Given the description of an element on the screen output the (x, y) to click on. 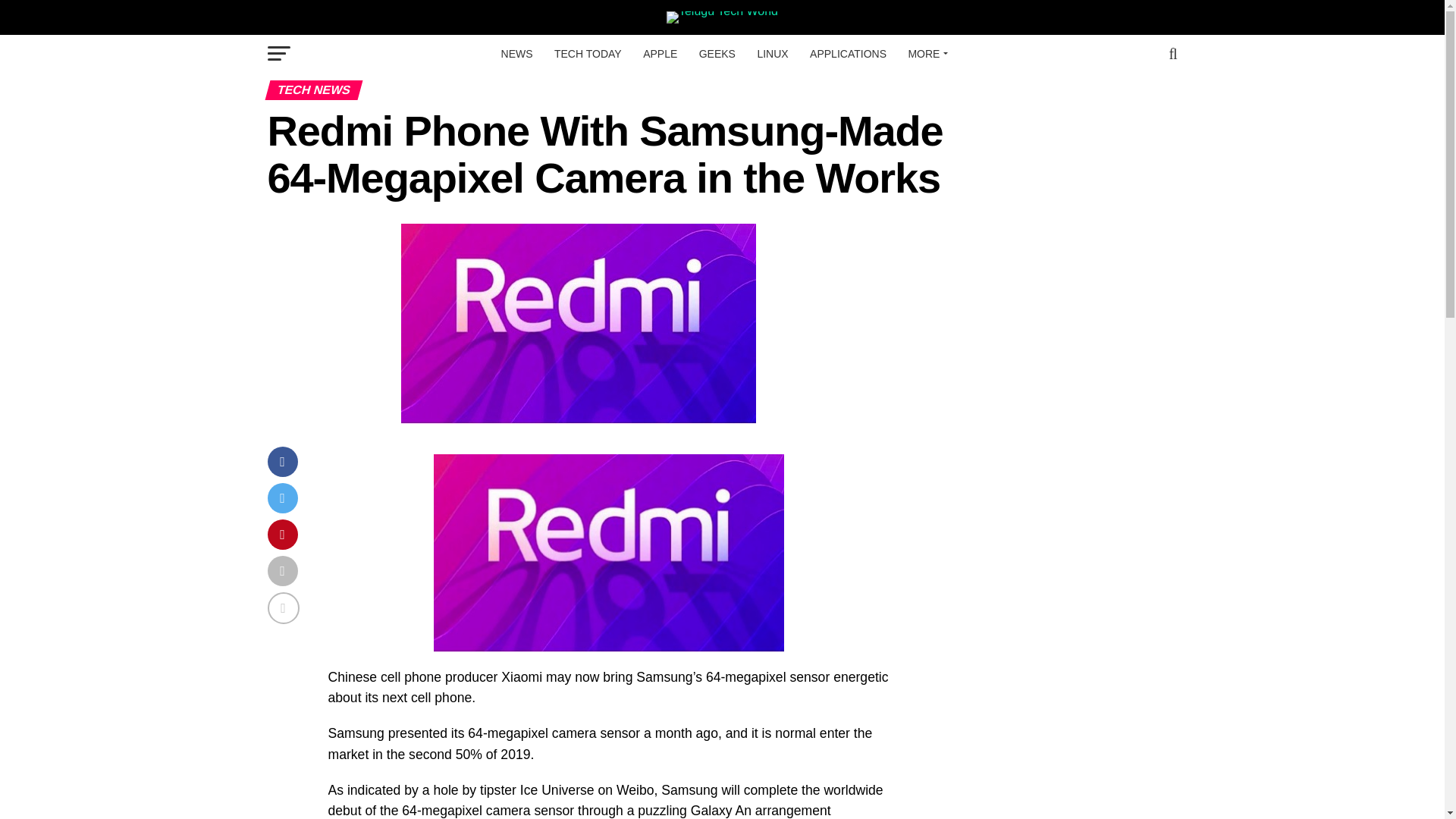
TECH TODAY (587, 53)
APPLE (659, 53)
GEEKS (717, 53)
APPLICATIONS (847, 53)
MORE (925, 53)
NEWS (516, 53)
LINUX (772, 53)
